Given the description of an element on the screen output the (x, y) to click on. 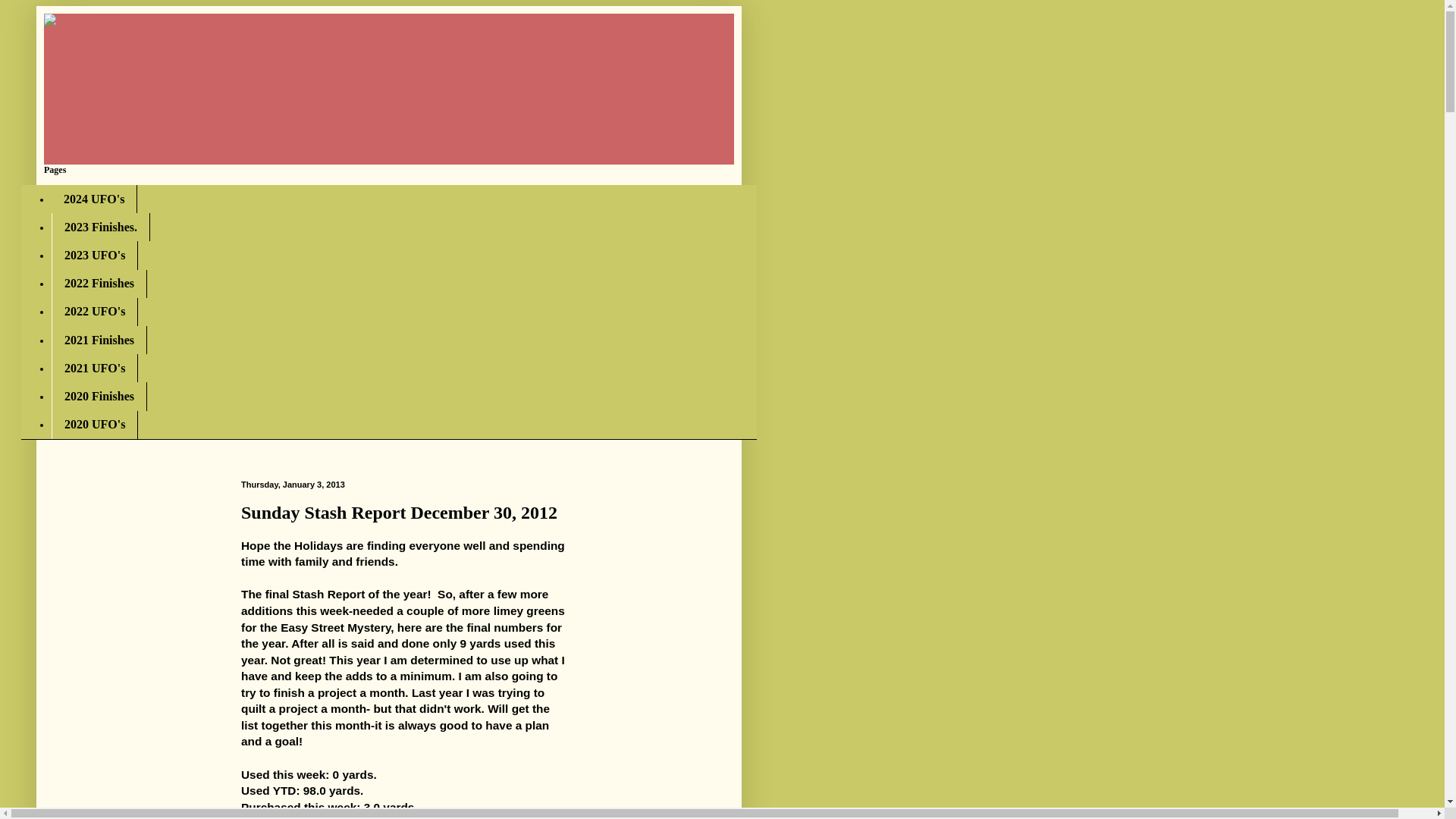
2022 Finishes (98, 284)
2023 UFO's (94, 254)
2020 Finishes (98, 396)
2024 UFO's (93, 198)
2022 UFO's (94, 311)
2020 UFO's (94, 424)
2023 Finishes. (99, 226)
2021 Finishes (98, 339)
2021 UFO's (94, 367)
